Given the description of an element on the screen output the (x, y) to click on. 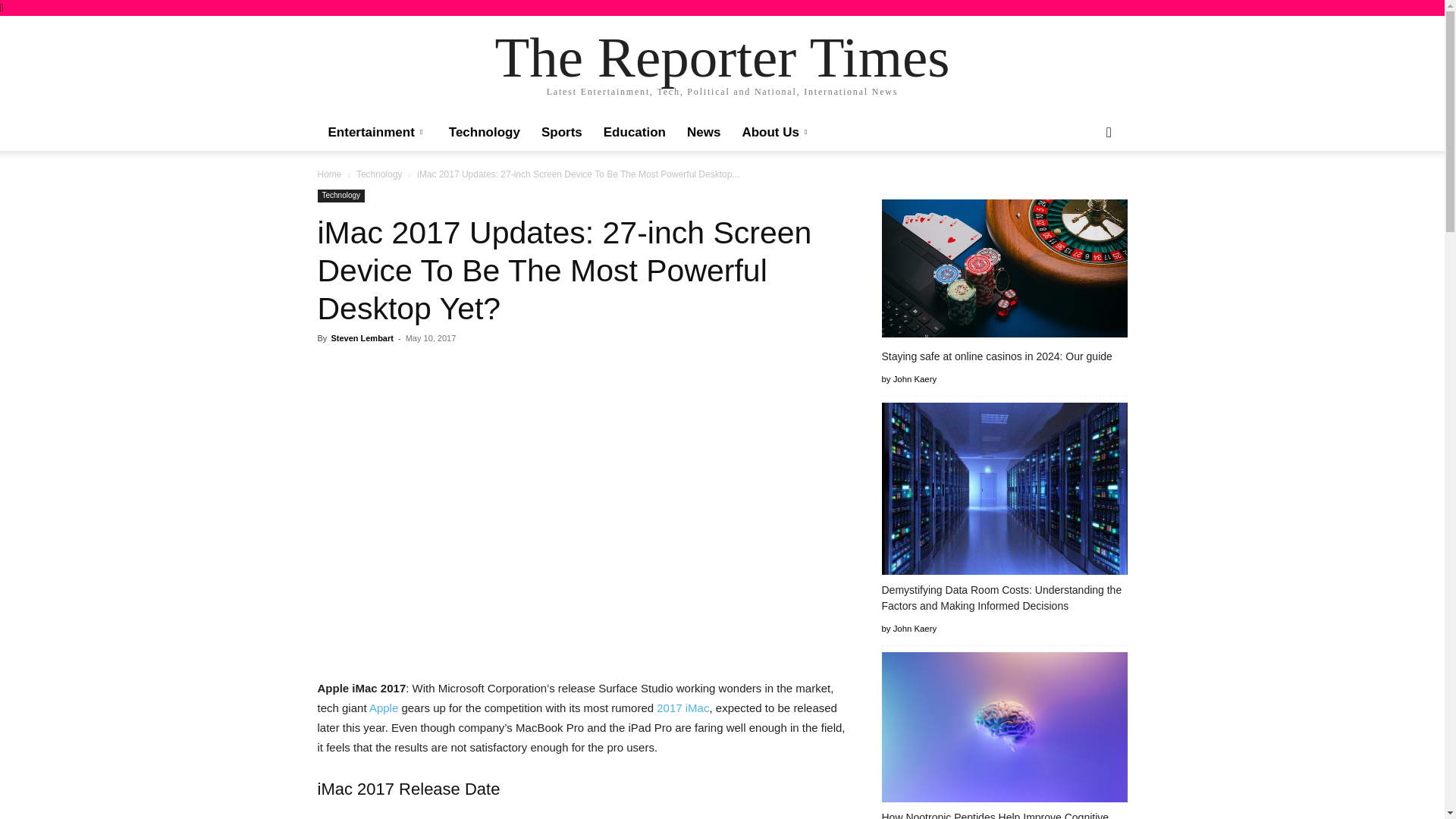
Technology (341, 195)
Technology (379, 173)
Home (328, 173)
Sports (561, 132)
Technology (484, 132)
Search (1085, 192)
Steven Lembart (361, 338)
View all posts in Technology (379, 173)
About Us (776, 132)
Entertainment (377, 132)
The Reporter Times (722, 56)
Education (634, 132)
News (703, 132)
